Given the description of an element on the screen output the (x, y) to click on. 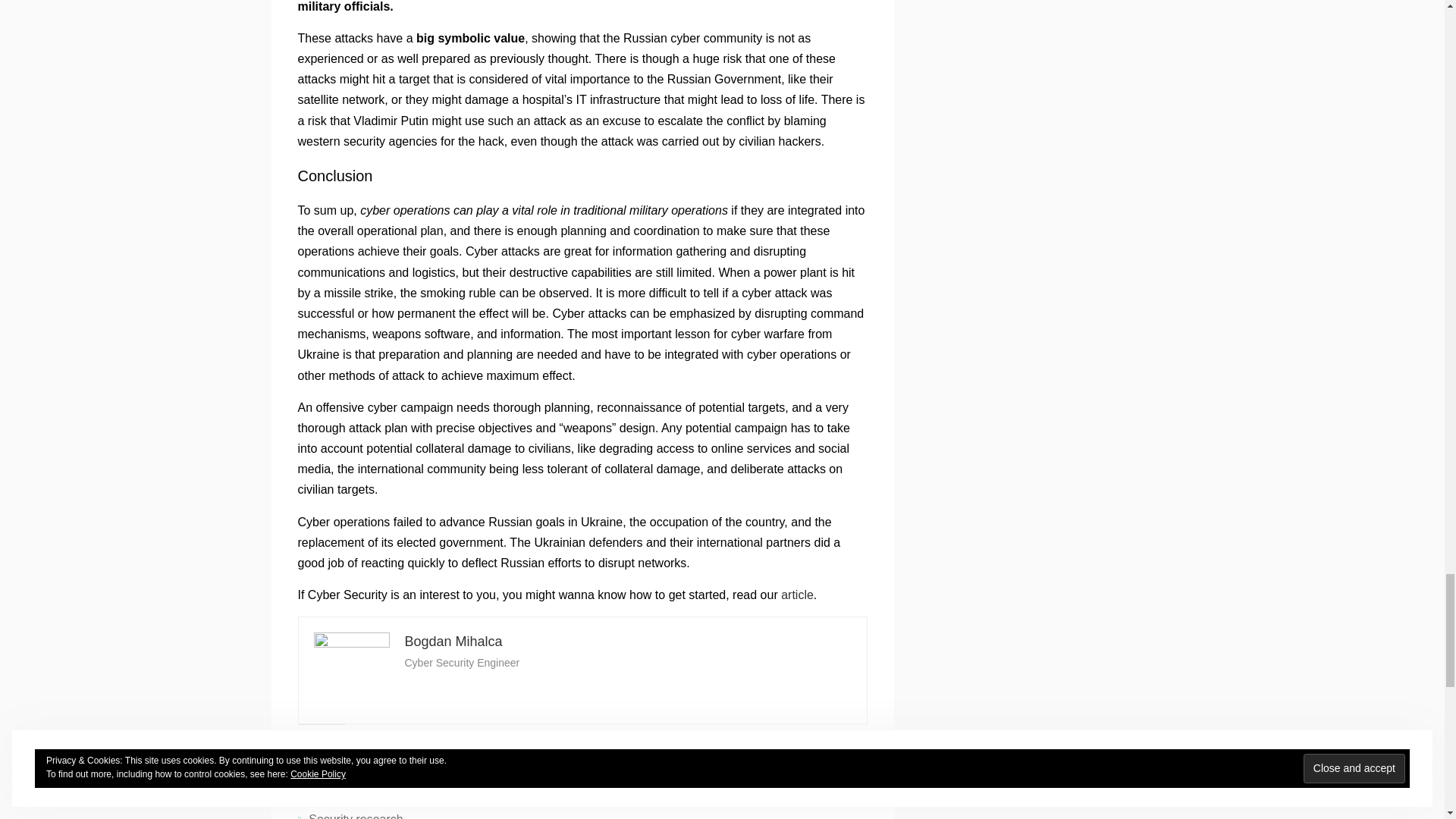
Click to share on Facebook (339, 766)
Click to share on Twitter (309, 766)
article (796, 594)
Bogdan Mihalca (453, 641)
